Given the description of an element on the screen output the (x, y) to click on. 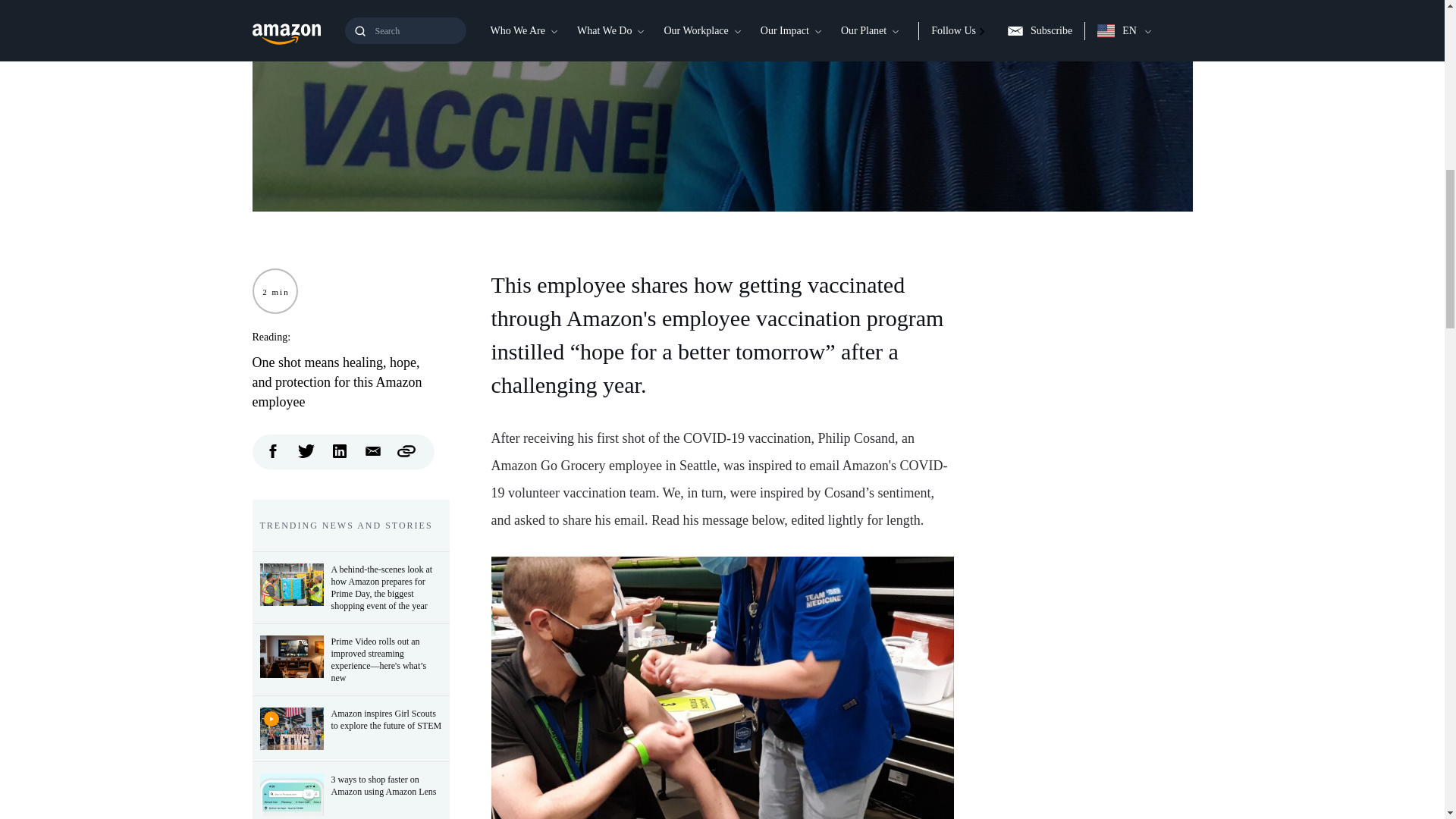
Facebook Share (272, 451)
LinkedIn Share (339, 451)
email (372, 451)
copy link (405, 451)
Twitter Share (306, 451)
